Given the description of an element on the screen output the (x, y) to click on. 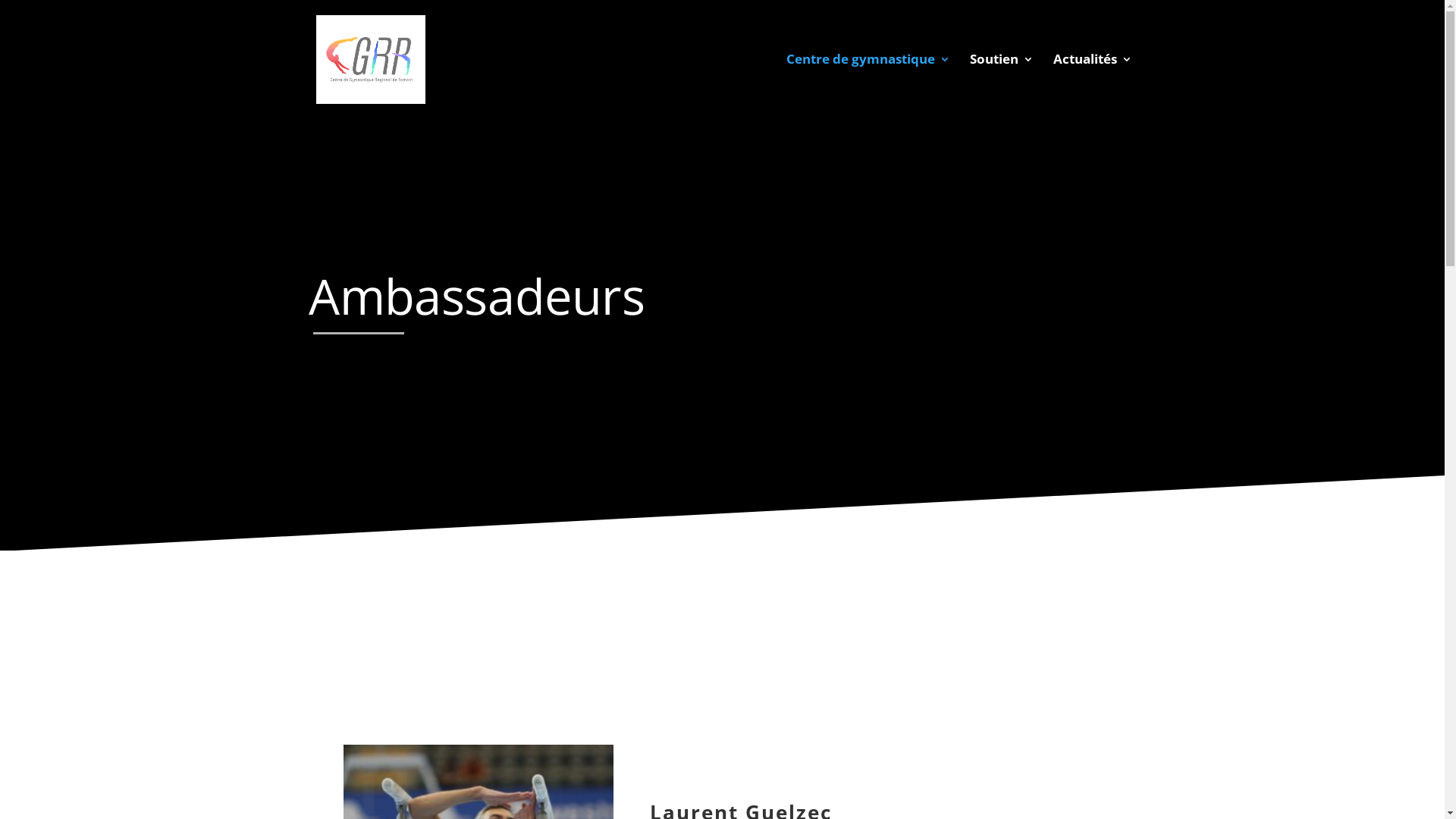
Soutien Element type: text (1000, 85)
Centre de gymnastique Element type: text (867, 85)
